Given the description of an element on the screen output the (x, y) to click on. 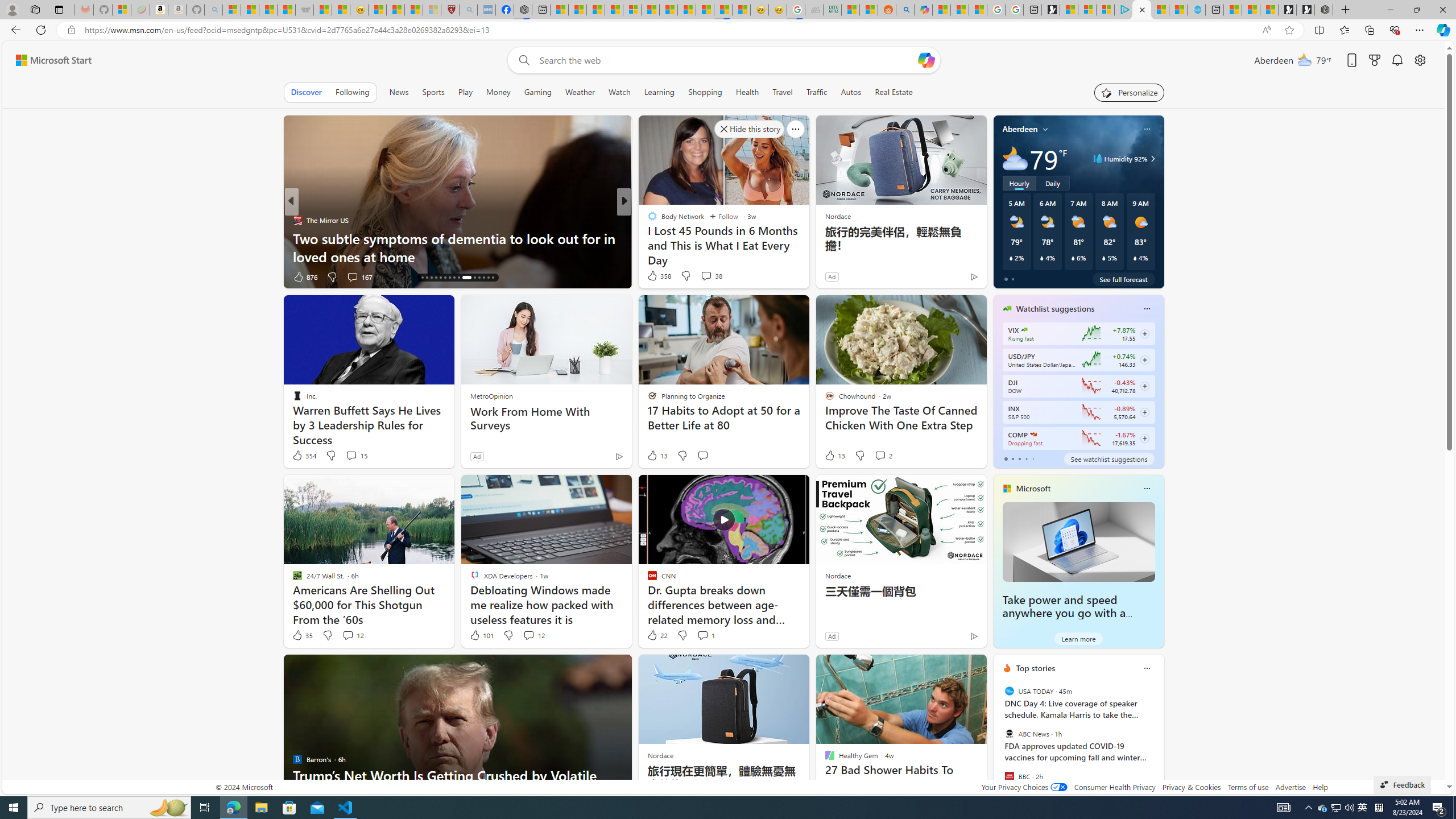
New Tab (1346, 9)
View comments 34 Comment (357, 276)
NASDAQ (1032, 434)
View comments 23 Comment (707, 276)
MetroOpinion (491, 395)
News (398, 92)
Personal Profile (12, 9)
Traffic (816, 92)
CBOE Market Volatility Index (1023, 329)
AutomationID: tab-22 (449, 277)
Traffic (816, 92)
35 Like (301, 634)
